Given the description of an element on the screen output the (x, y) to click on. 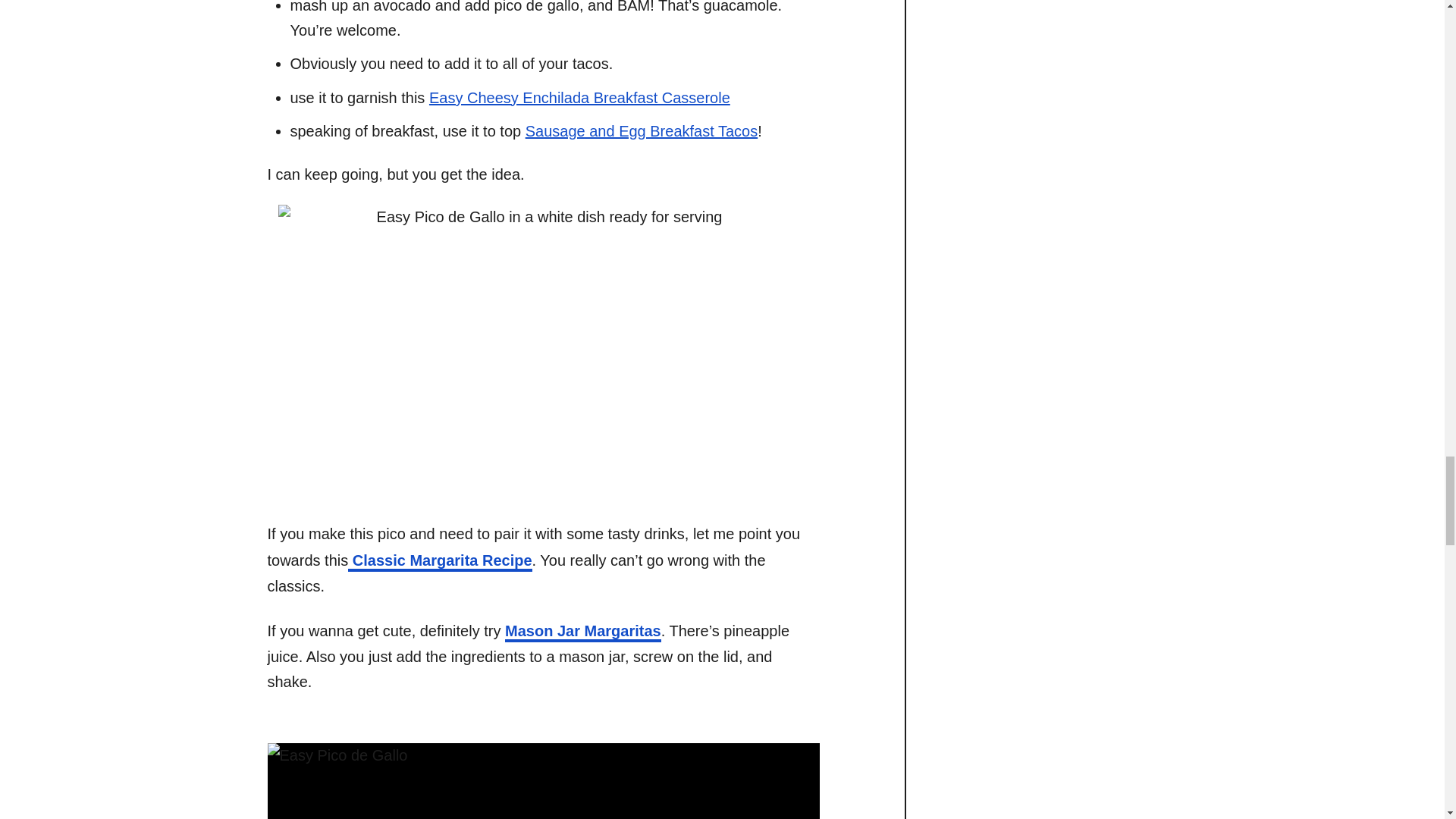
Easy Cheesy Enchilada Breakfast Casserole (579, 97)
Sausage and Egg Breakfast Tacos (641, 130)
Mason Jar Margaritas (583, 632)
Classic Margarita Recipe (439, 561)
